Given the description of an element on the screen output the (x, y) to click on. 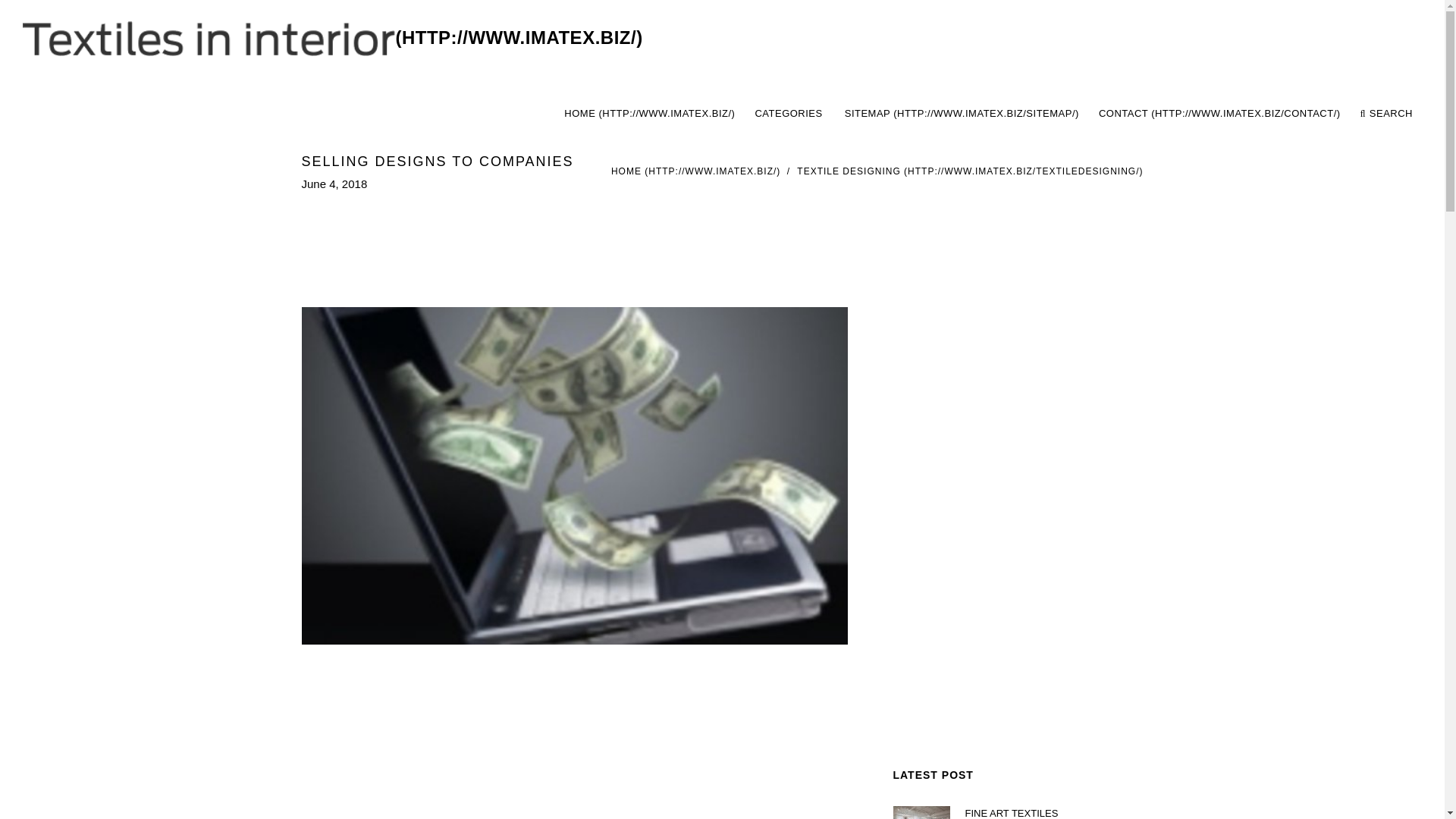
FINE ART TEXTILES (1052, 812)
TEXTILE DESIGNING (969, 171)
CATEGORIES (788, 113)
Advertisement (1017, 533)
Advertisement (574, 735)
HOME (649, 113)
CONTACT (1219, 113)
HOME (695, 171)
SEARCH (1386, 113)
SITEMAP (961, 113)
Textiles in interior (987, 113)
